Given the description of an element on the screen output the (x, y) to click on. 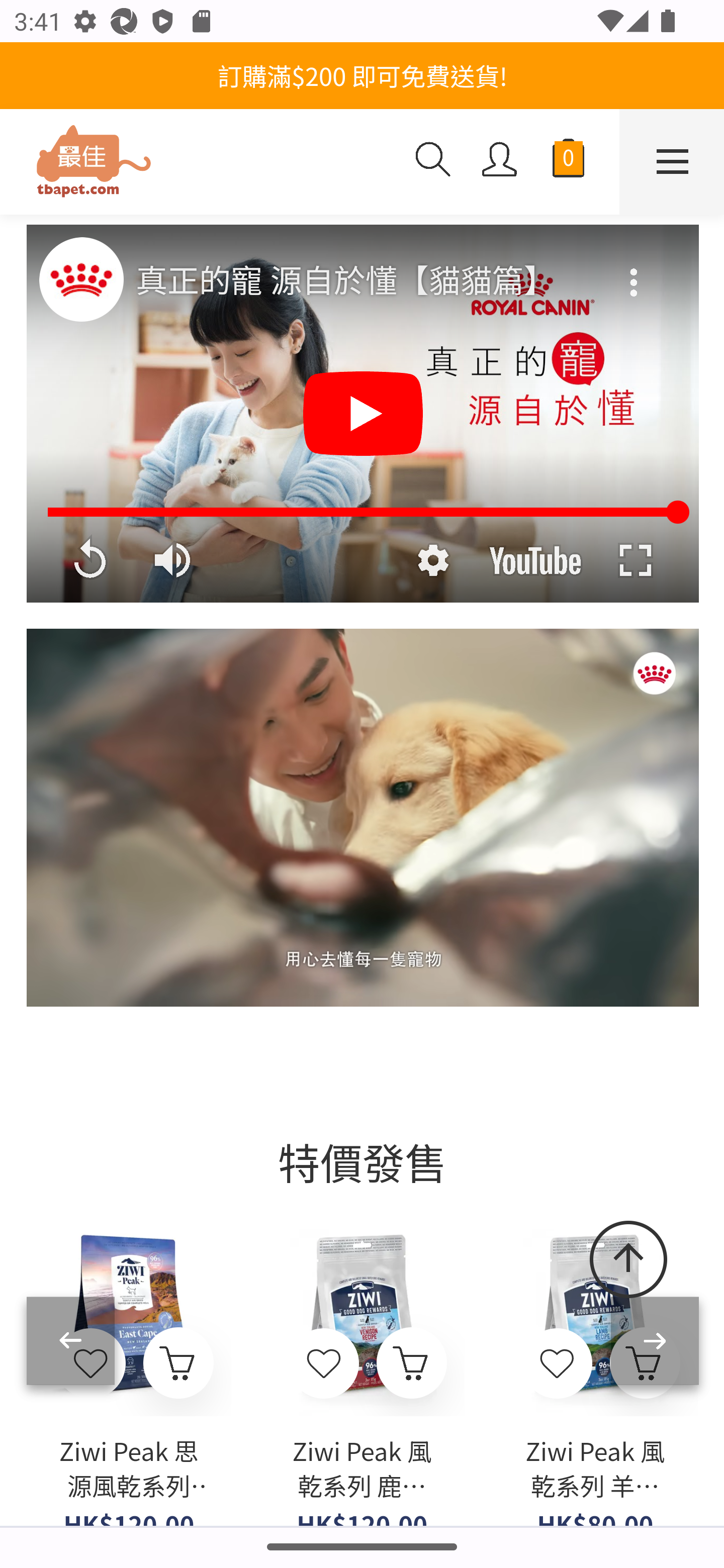
450x (200, 162)
sign_in (499, 161)
0 (567, 161)
More (635, 269)
Photo image of Royal Canin HK (80, 278)
真正的寵 源自於懂【貓貓篇】 (364, 281)
Play (362, 413)
Replay (89, 560)
Mute (173, 560)
Settings (432, 560)
Watch on YouTube (534, 560)
Full screen (635, 560)
 (324, 1364)
 (556, 1364)
